Given the description of an element on the screen output the (x, y) to click on. 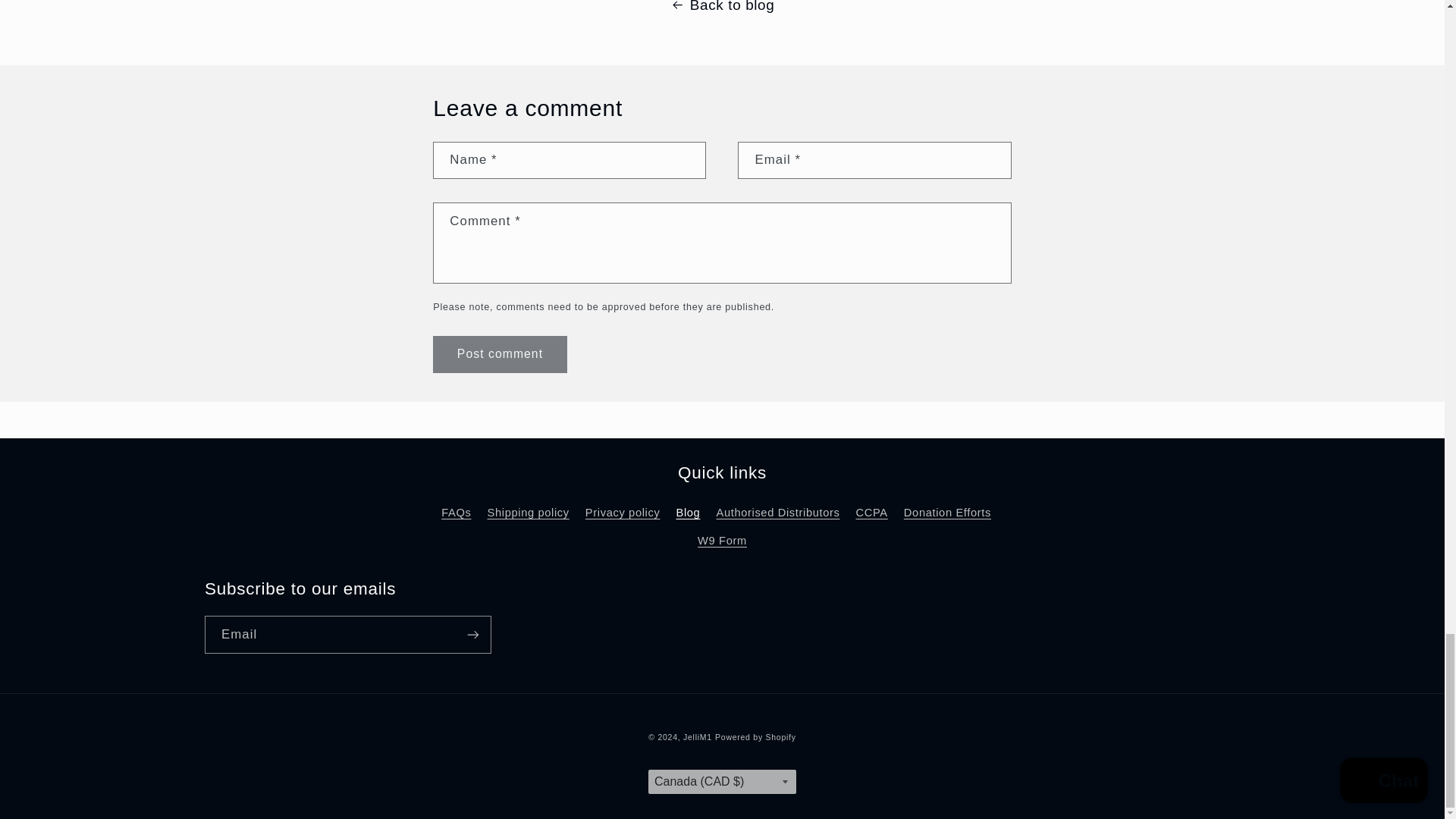
Authorised Distributors (778, 513)
Blog (687, 513)
Privacy policy (623, 513)
Post comment (499, 354)
FAQs (455, 515)
Shipping policy (528, 513)
CCPA (872, 513)
Post comment (499, 354)
